Given the description of an element on the screen output the (x, y) to click on. 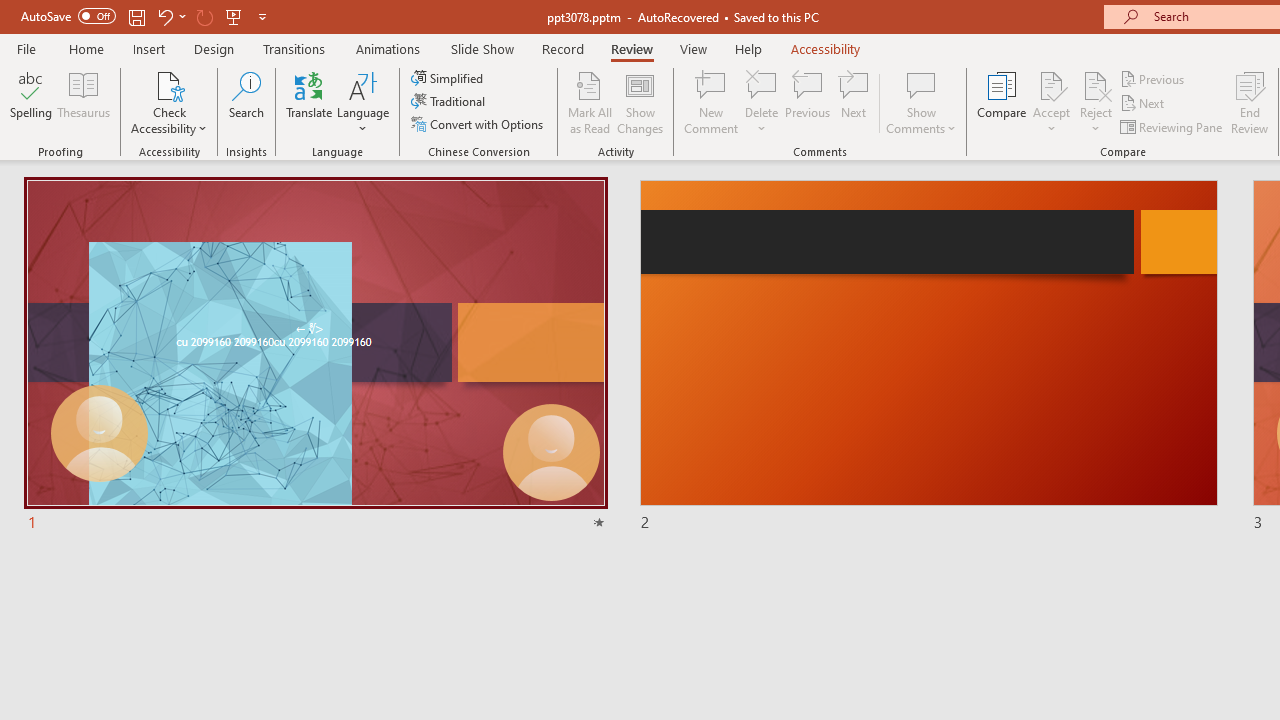
Reject (1096, 102)
System (10, 11)
View (693, 48)
Show Changes (639, 102)
Design (214, 48)
Check Accessibility (169, 84)
AutoSave (68, 16)
Next (1144, 103)
Language (363, 102)
Accept (1051, 102)
Slide Show (481, 48)
Undo (170, 15)
Mark All as Read (589, 102)
Help (748, 48)
Transitions (294, 48)
